Given the description of an element on the screen output the (x, y) to click on. 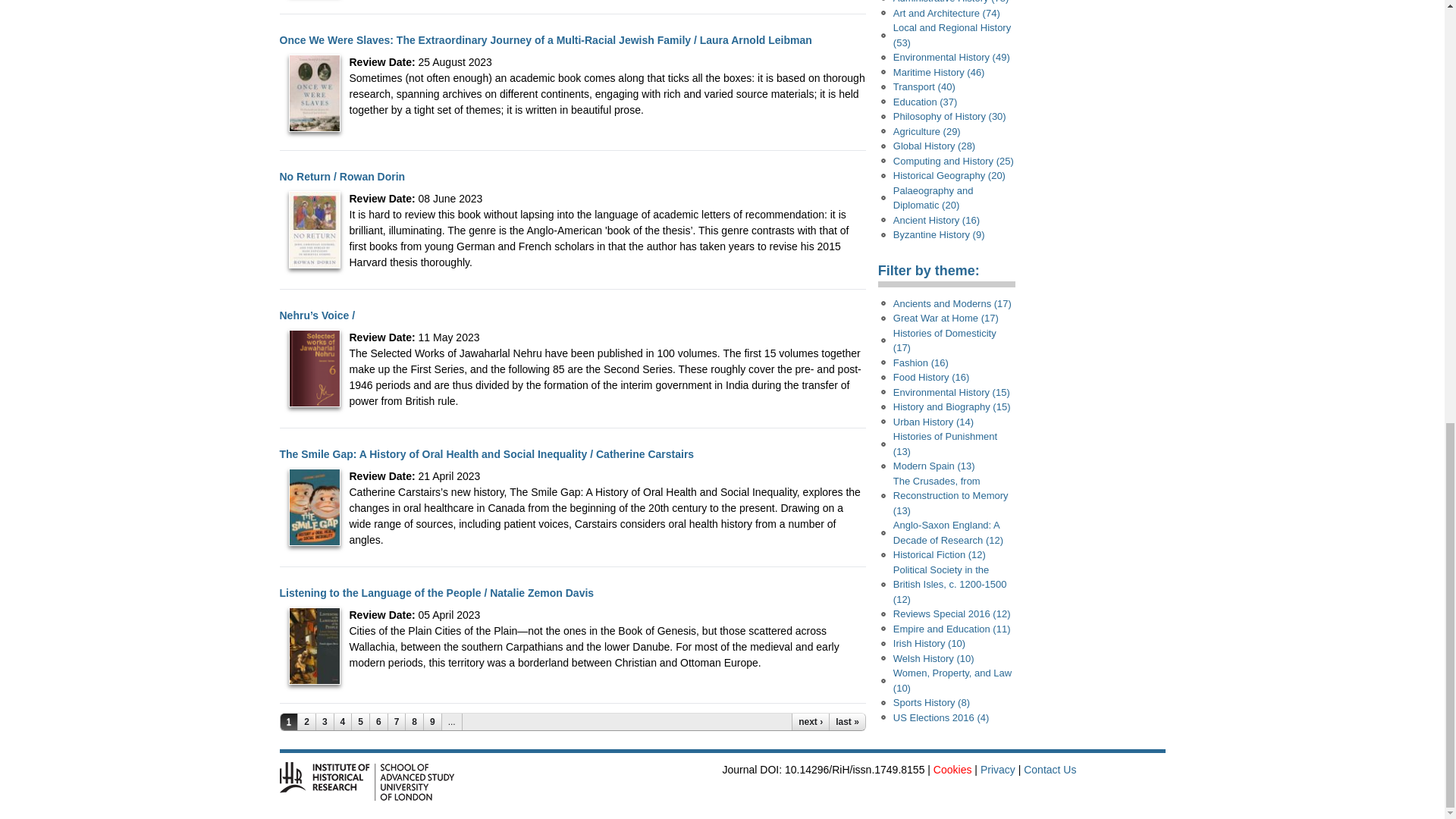
9 (432, 721)
6 (378, 721)
2 (306, 721)
3 (324, 721)
7 (397, 721)
5 (360, 721)
4 (343, 721)
8 (414, 721)
